Given the description of an element on the screen output the (x, y) to click on. 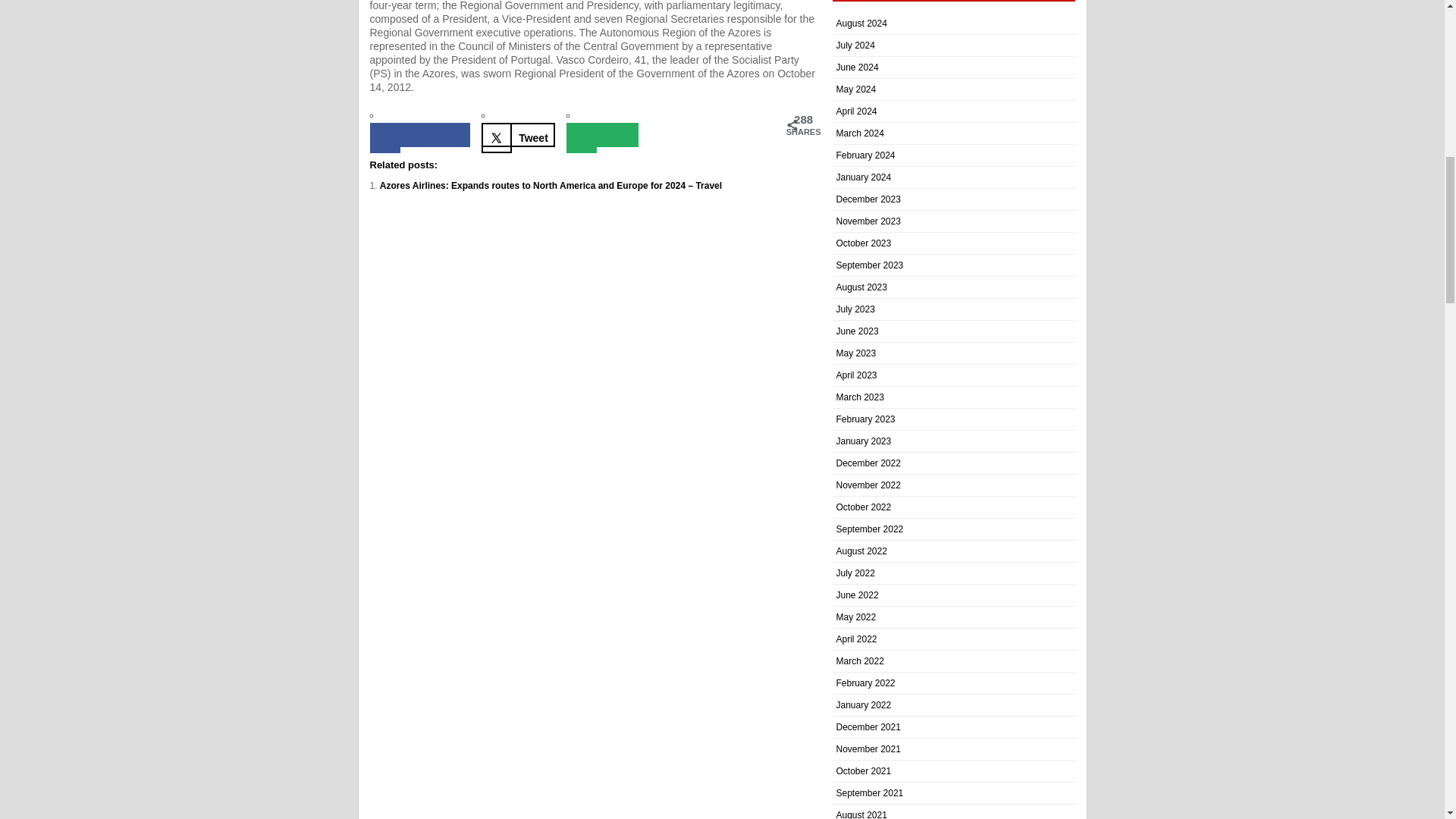
Share on Facebook (419, 134)
Share on X (517, 134)
Send over email (602, 134)
